Given the description of an element on the screen output the (x, y) to click on. 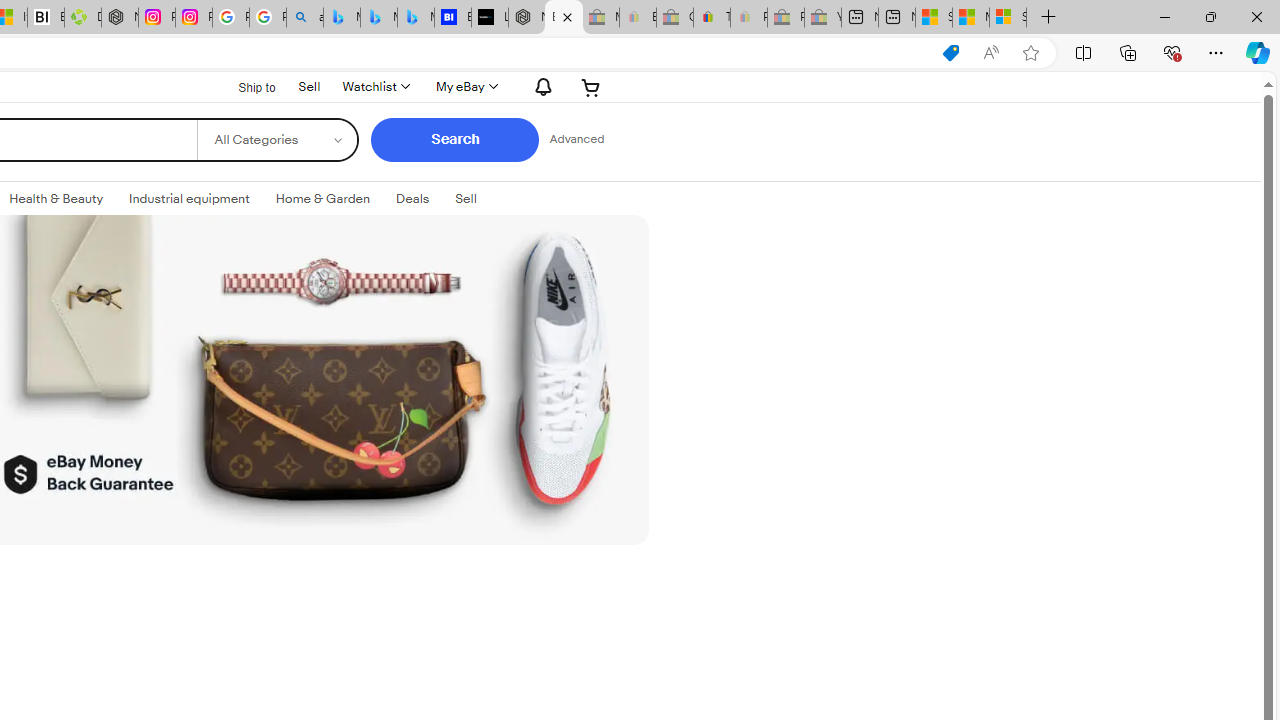
Deals (412, 198)
Descarga Driver Updater (83, 17)
Health & Beauty (55, 198)
Nordace - Nordace Edin Collection (120, 17)
Industrial equipment (189, 198)
Home & GardenExpand: Home & Garden (323, 199)
Sell (465, 198)
My eBay (464, 86)
Press Room - eBay Inc. - Sleeping (785, 17)
